Given the description of an element on the screen output the (x, y) to click on. 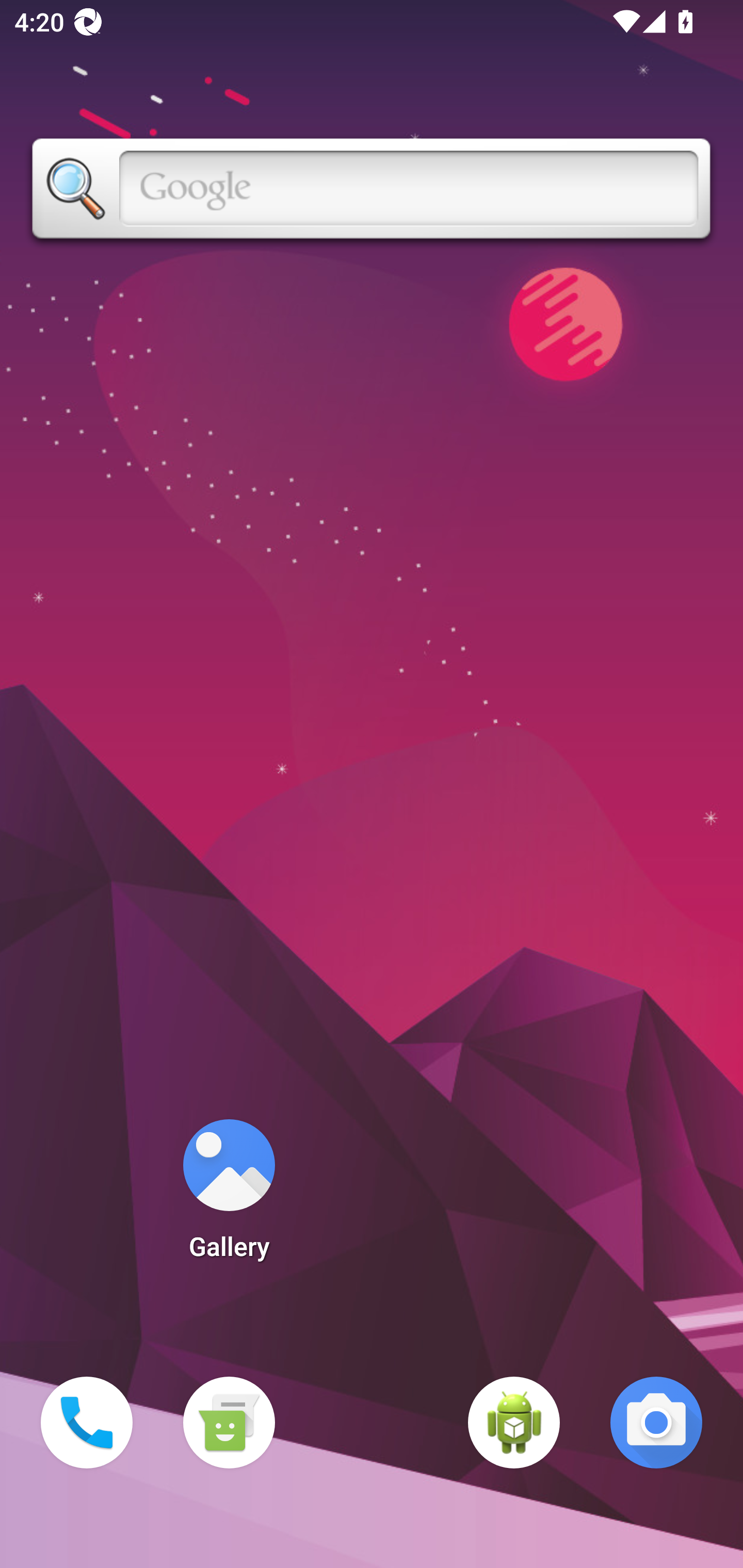
Gallery (228, 1195)
Phone (86, 1422)
Messaging (228, 1422)
WebView Browser Tester (513, 1422)
Camera (656, 1422)
